Given the description of an element on the screen output the (x, y) to click on. 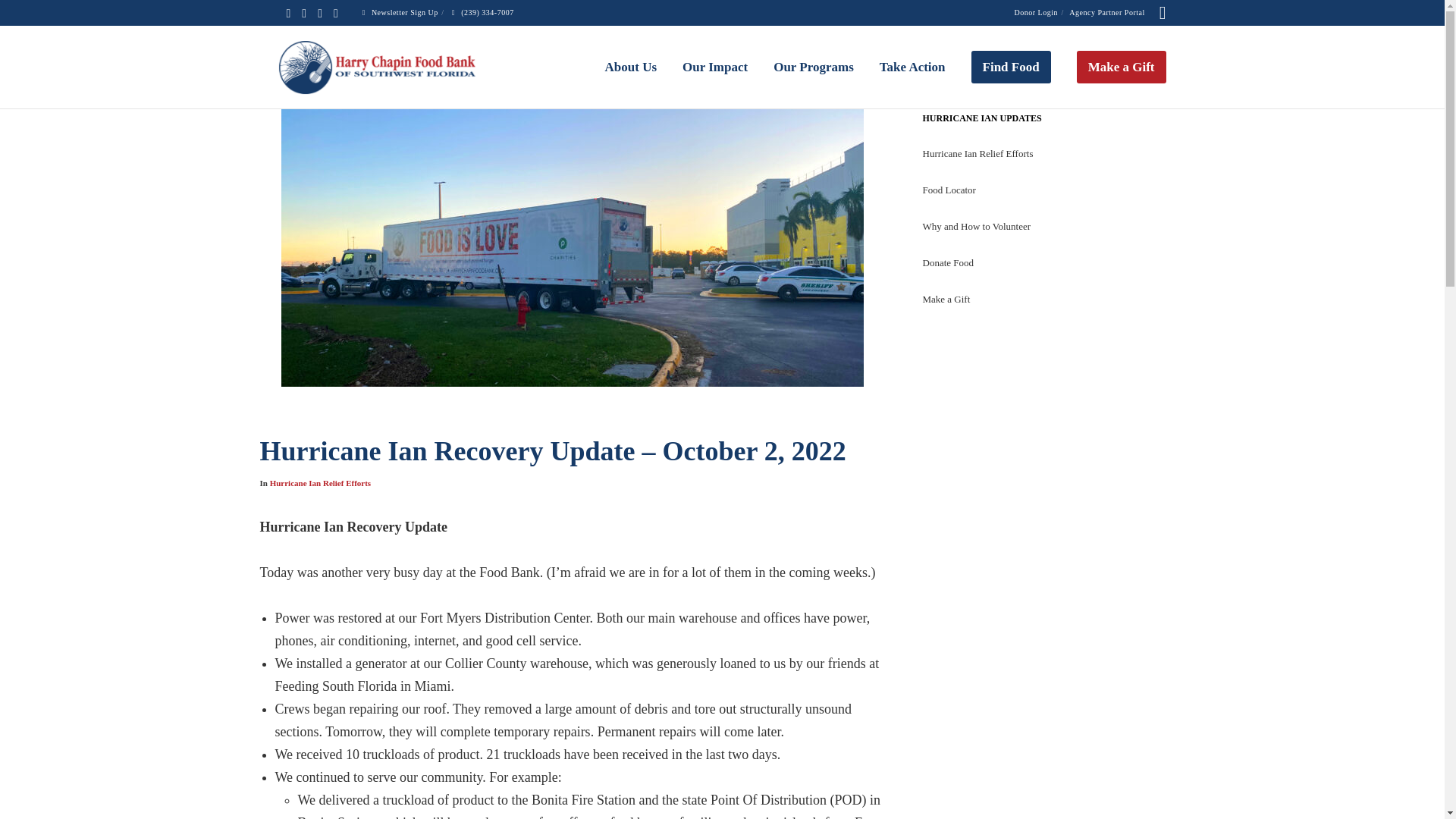
Donor Login (1036, 12)
About Us (618, 66)
Agency Partner Portal (1106, 12)
Our Programs (800, 66)
Take Action (898, 66)
Our Impact (702, 66)
Newsletter Sign Up (398, 12)
